Given the description of an element on the screen output the (x, y) to click on. 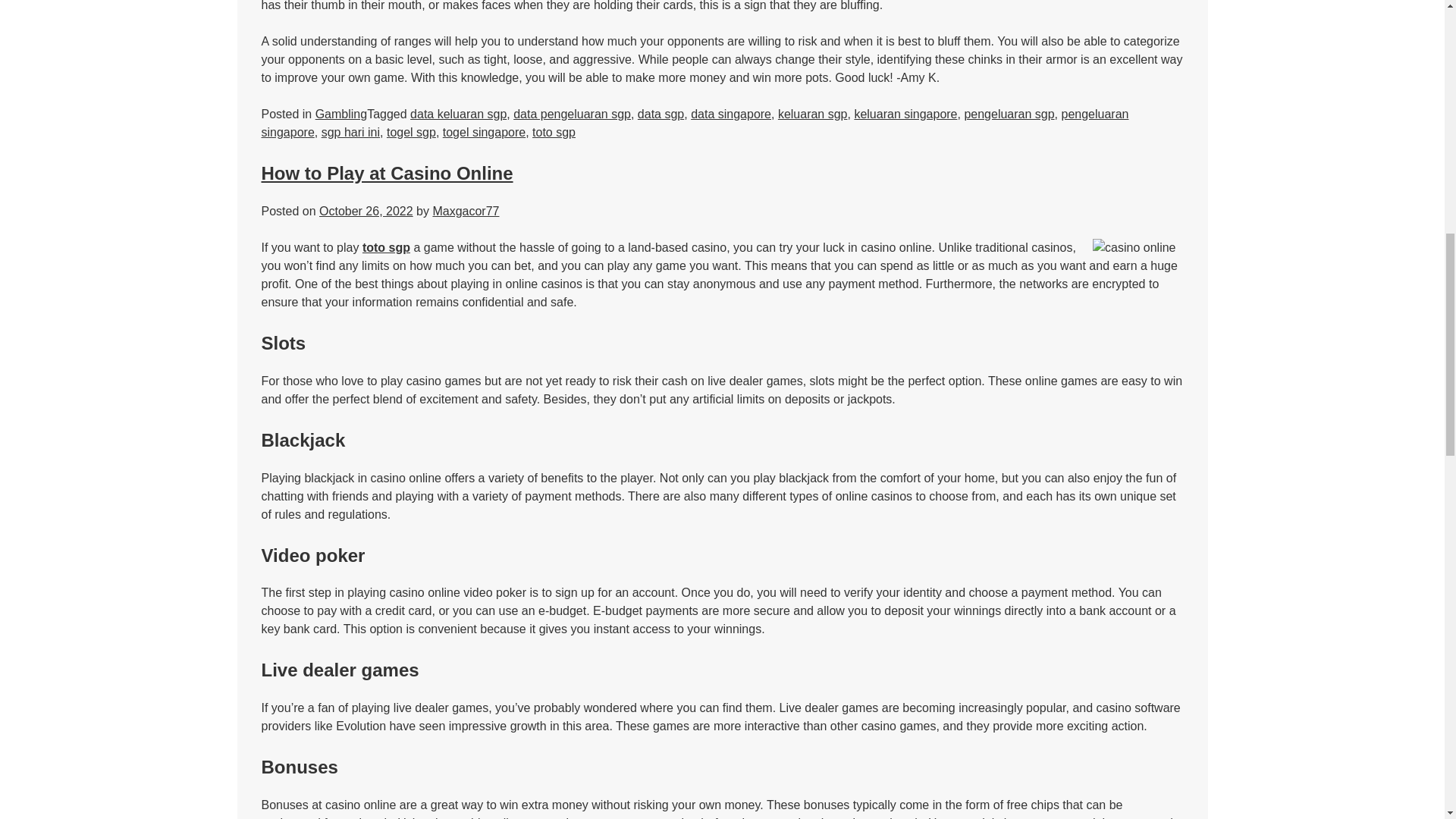
How to Play at Casino Online (386, 172)
pengeluaran singapore (694, 122)
Gambling (340, 113)
pengeluaran sgp (1008, 113)
toto sgp (386, 246)
data singapore (730, 113)
keluaran sgp (812, 113)
keluaran singapore (904, 113)
sgp hari ini (350, 132)
data pengeluaran sgp (571, 113)
